Given the description of an element on the screen output the (x, y) to click on. 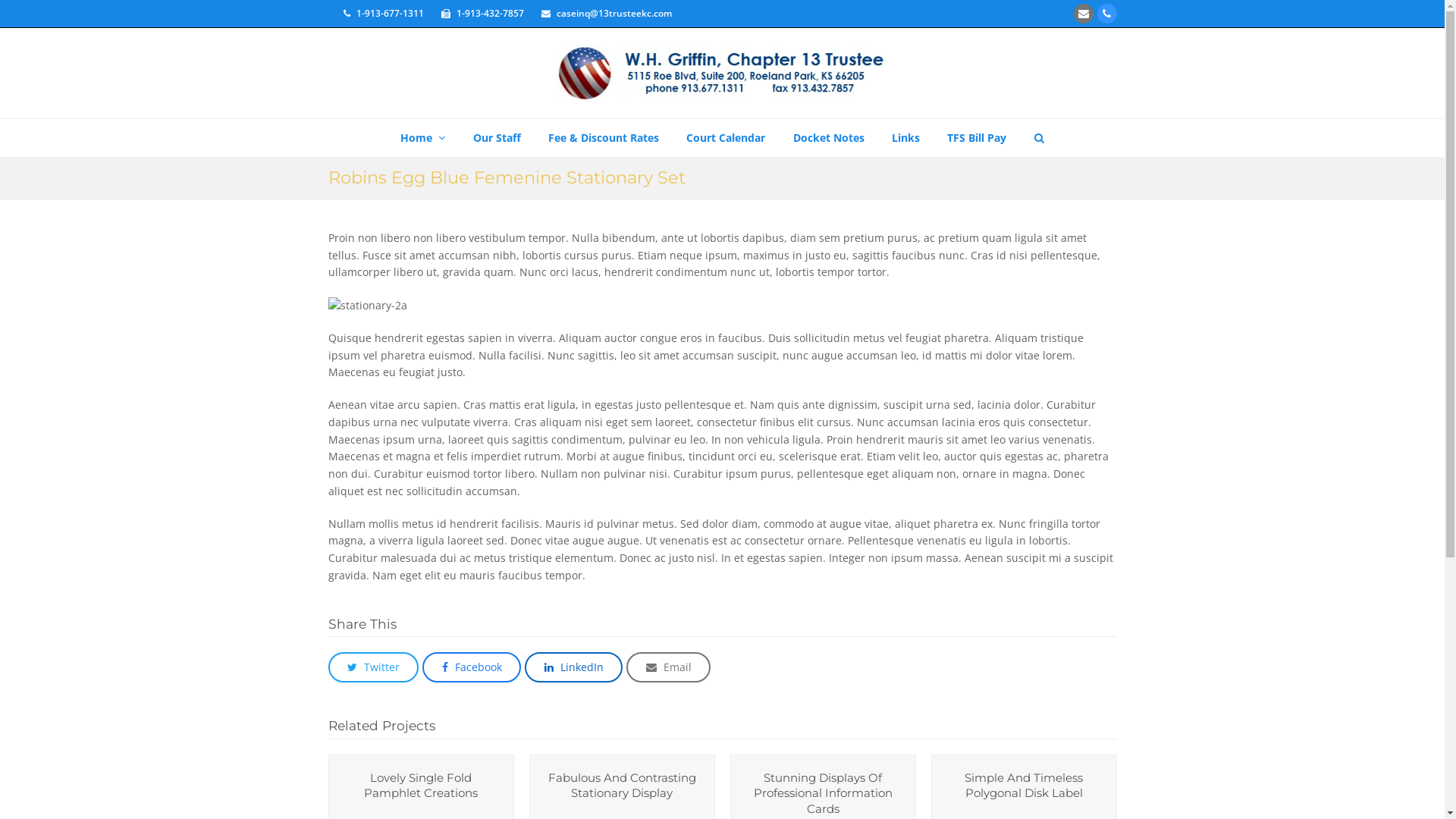
LinkedIn Element type: text (573, 667)
Court Calendar Element type: text (725, 137)
Stunning Displays Of Professional Information Cards Element type: text (822, 792)
Email Element type: text (1083, 13)
Fee & Discount Rates Element type: text (603, 137)
Facebook Element type: text (471, 667)
Home Element type: text (422, 137)
Our Staff Element type: text (496, 137)
Docket Notes Element type: text (828, 137)
Email Element type: text (668, 667)
Fabulous And Contrasting Stationary Display Element type: text (621, 785)
Simple And Timeless Polygonal Disk Label Element type: text (1023, 785)
TFS Bill Pay Element type: text (976, 137)
Links Element type: text (905, 137)
Phone Element type: text (1106, 13)
Lovely Single Fold Pamphlet Creations Element type: text (420, 785)
Twitter Element type: text (372, 667)
